Given the description of an element on the screen output the (x, y) to click on. 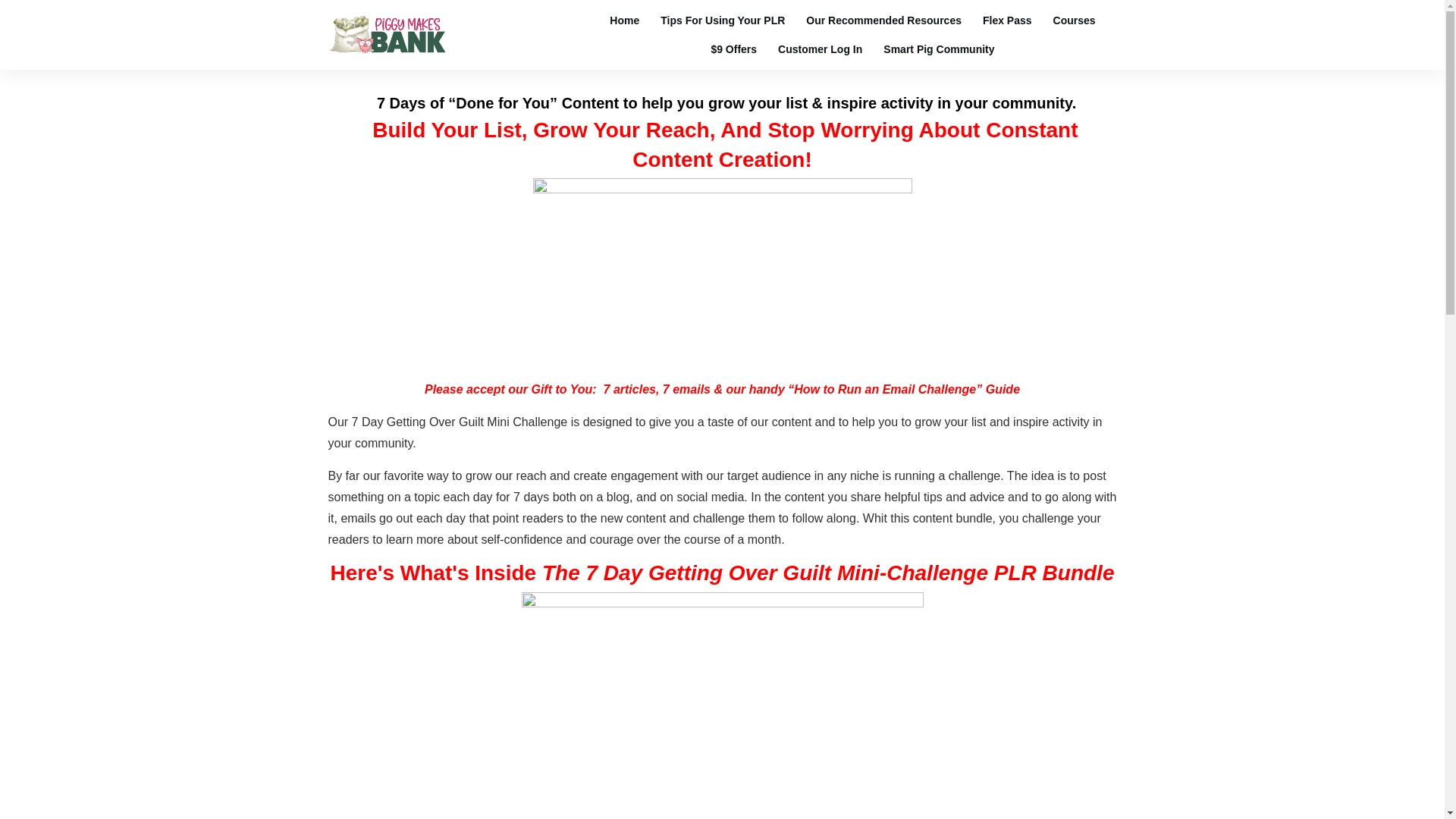
Courses (1074, 20)
Customer Log In (819, 48)
Smart Pig Community (938, 48)
Home (624, 20)
Our Recommended Resources (883, 20)
Tips For Using Your PLR (722, 20)
Flex Pass (1007, 20)
